Given the description of an element on the screen output the (x, y) to click on. 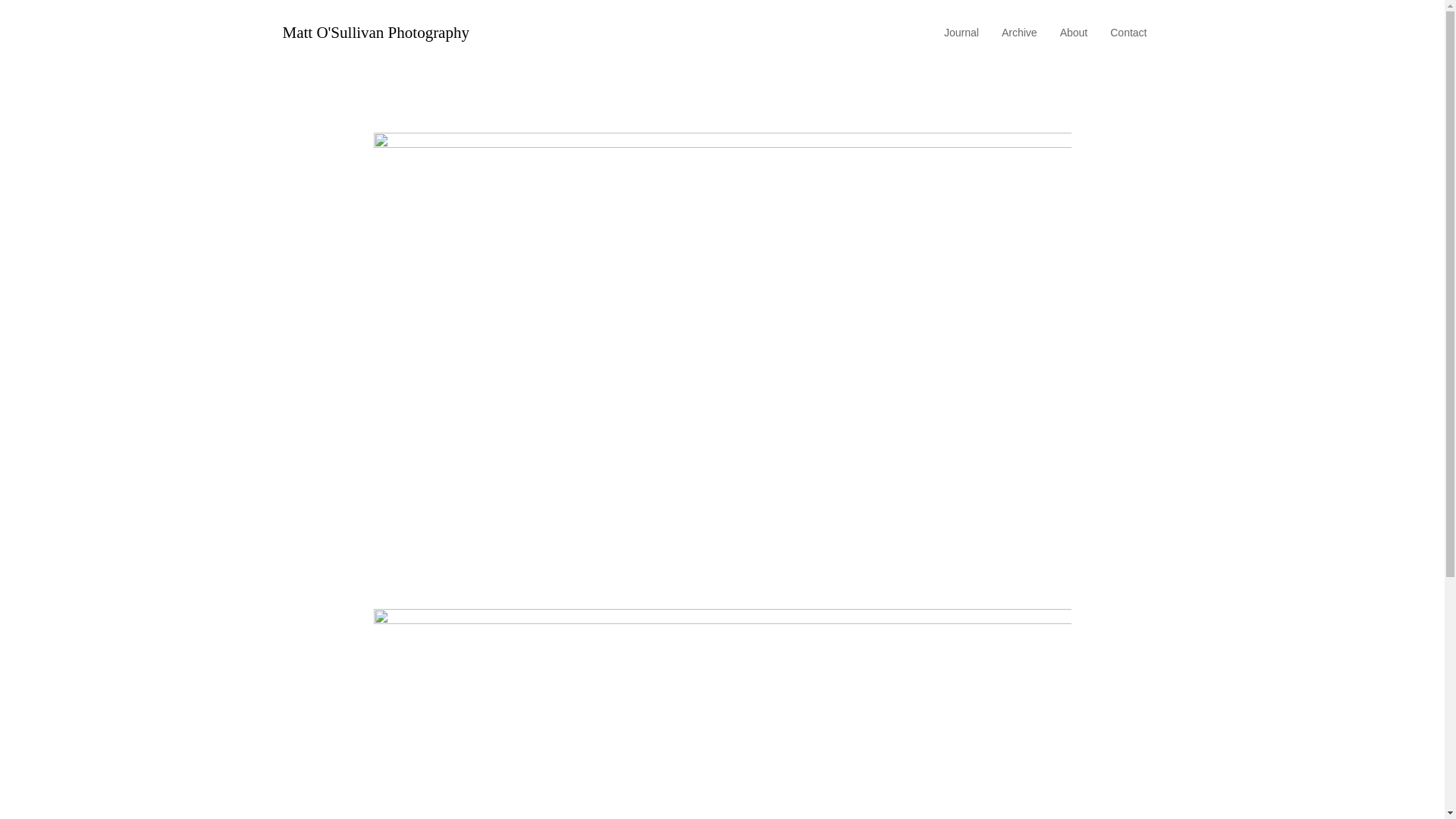
Matt O'Sullivan Photography Element type: text (375, 32)
Contact Element type: text (1127, 32)
About Element type: text (1073, 32)
Archive Element type: text (1019, 32)
Journal Element type: text (961, 32)
